Given the description of an element on the screen output the (x, y) to click on. 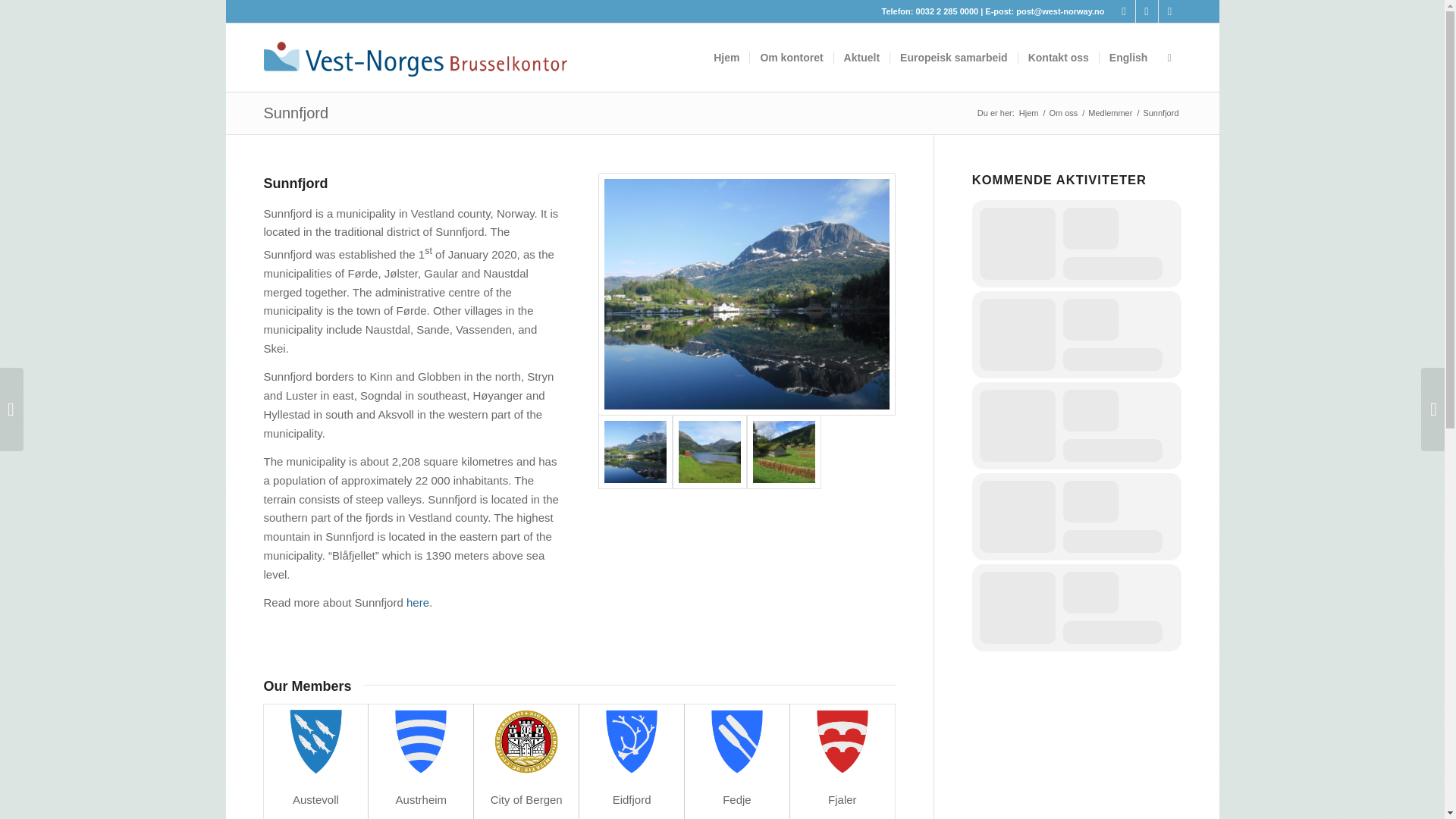
Austevoll (315, 799)
Permanent lenke: Sunnfjord (296, 112)
Om kontoret (790, 57)
Austrheim (421, 799)
Sunnfjord (296, 112)
Gaular-kommune-845x684 (635, 451)
here (417, 602)
Gaular-kommune-845x684 (746, 293)
Sunnfjord Jabra pixabay (709, 451)
logo2 (415, 49)
Gaular-kommune-845x684 (746, 294)
logo2 (415, 57)
